Given the description of an element on the screen output the (x, y) to click on. 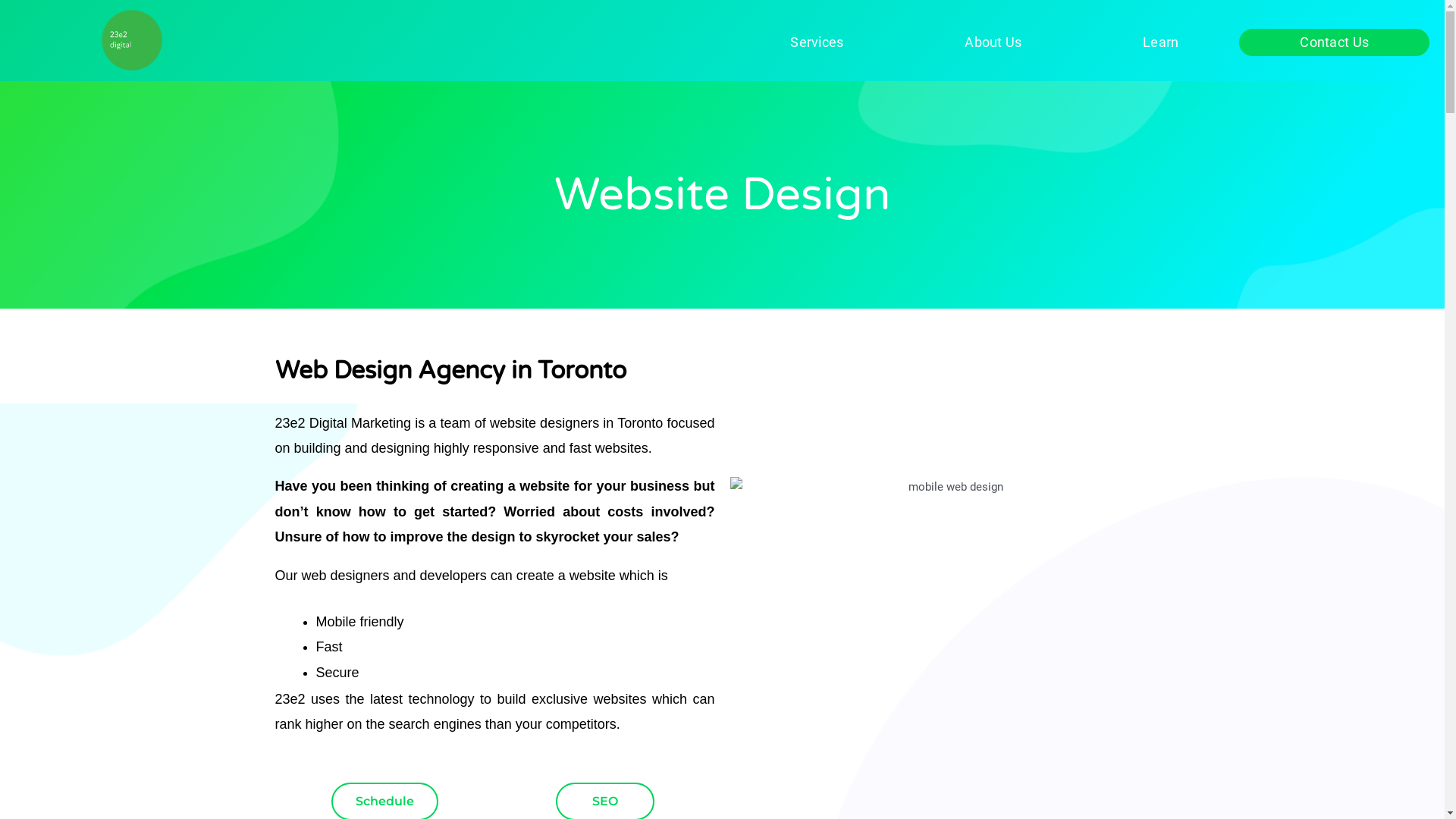
Learn Element type: text (1160, 42)
Services Element type: text (816, 42)
23e2 Digital Marketing Logo Element type: hover (131, 40)
Contact Us Element type: text (1334, 42)
About Us Element type: text (992, 42)
